Given the description of an element on the screen output the (x, y) to click on. 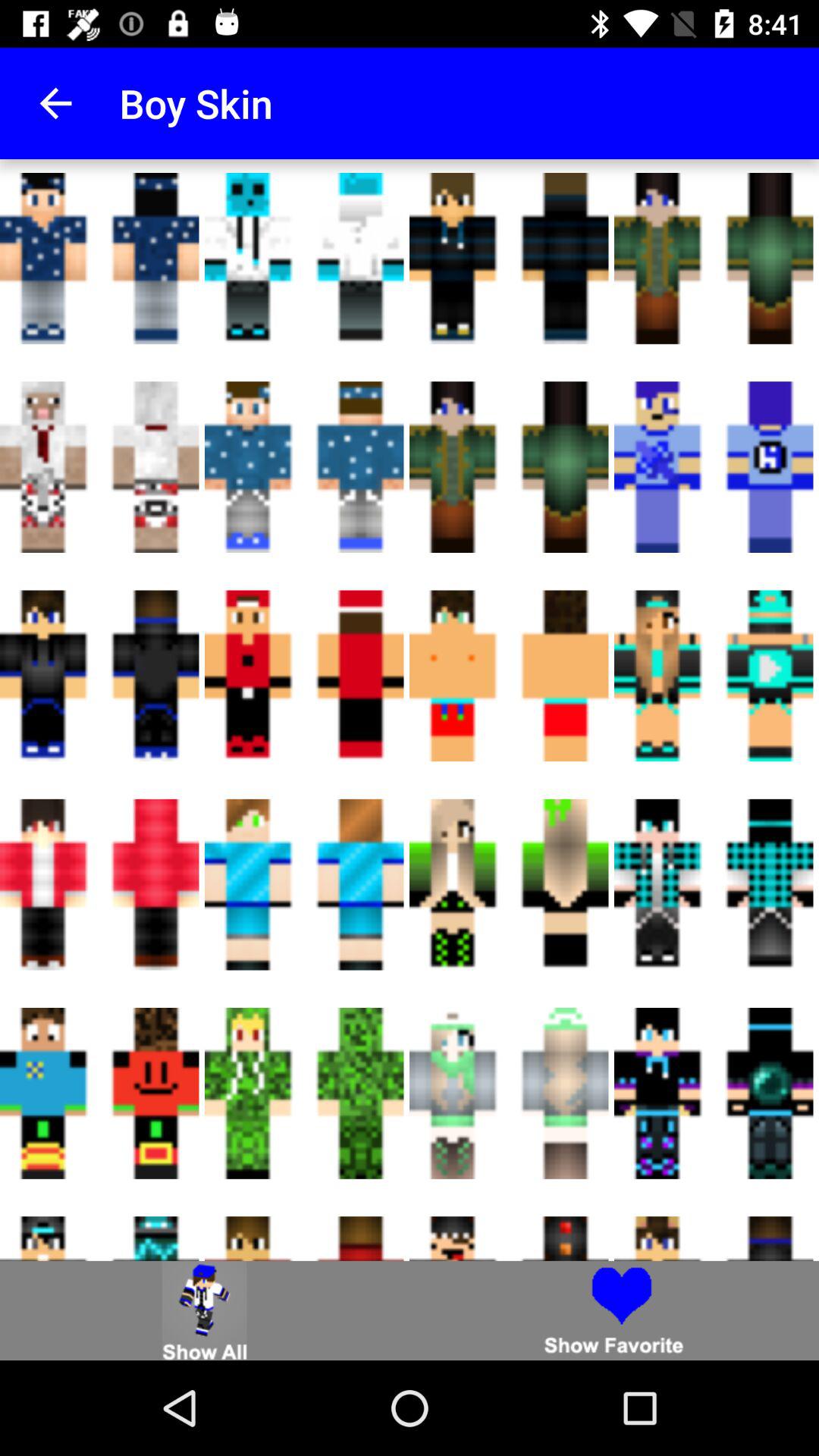
toggle to favorite (614, 1310)
